Given the description of an element on the screen output the (x, y) to click on. 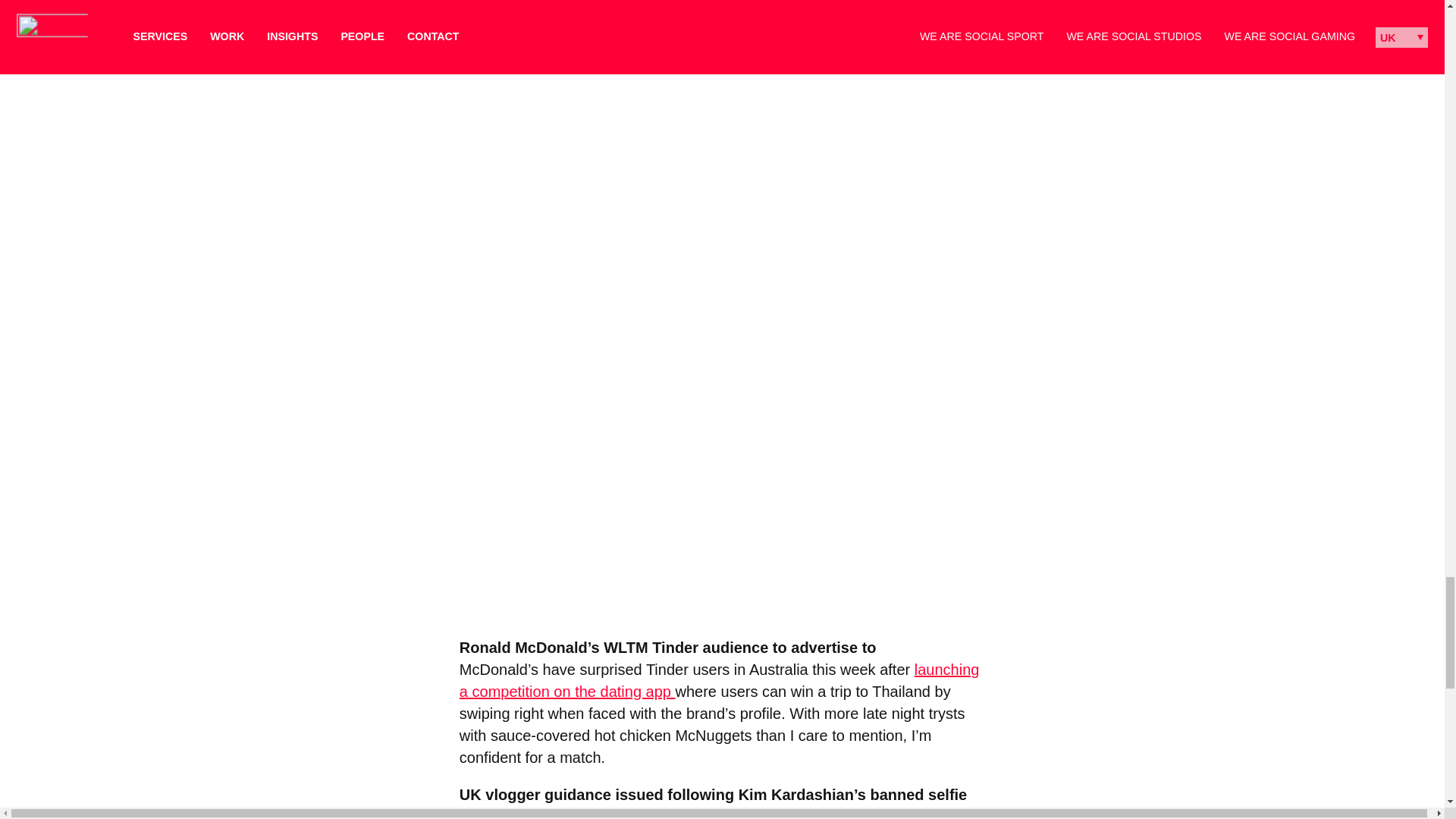
New guidelines (511, 813)
claims have been made (704, 813)
launching a competition on the dating app (719, 680)
